Given the description of an element on the screen output the (x, y) to click on. 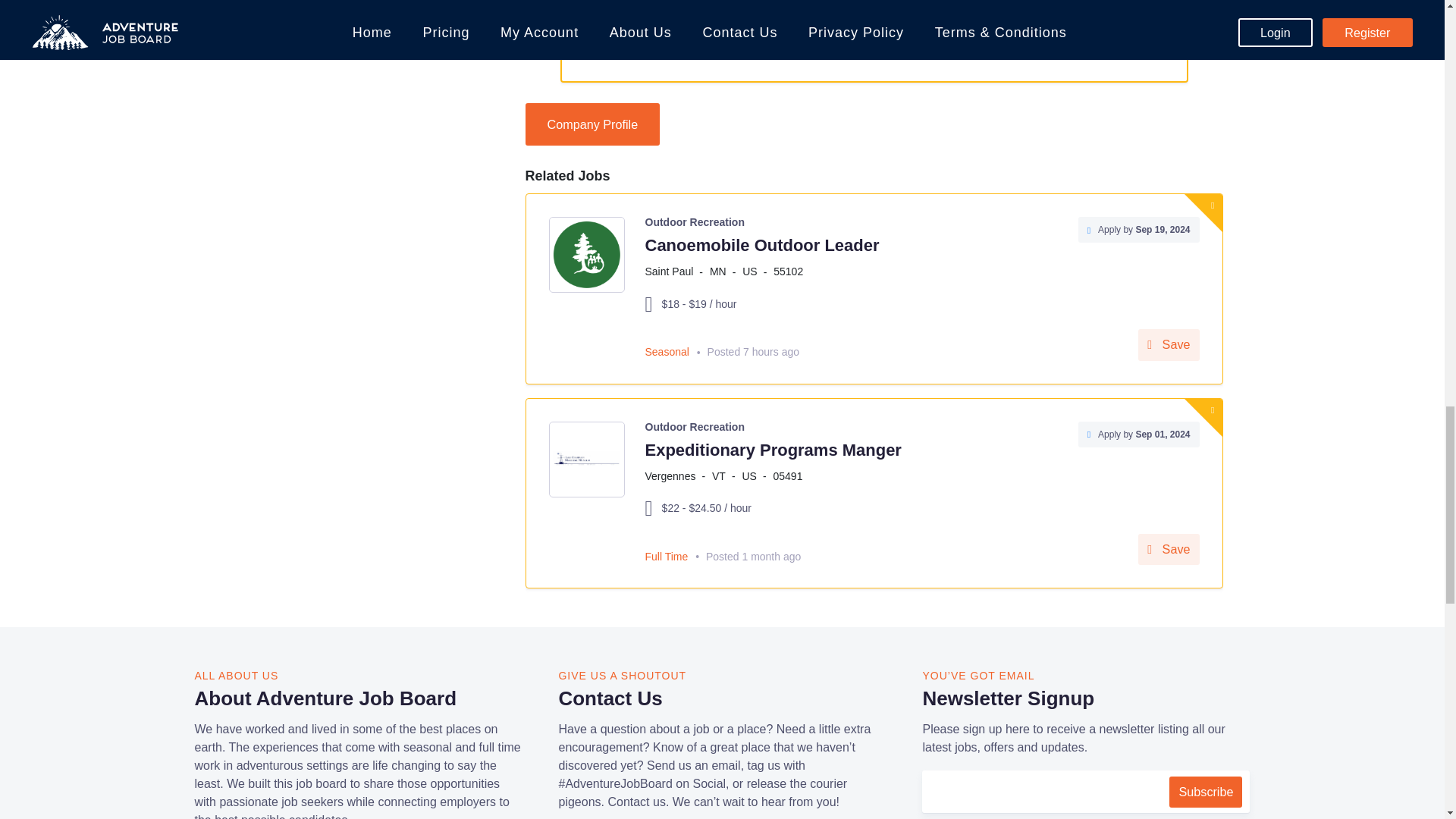
Seasonal (666, 351)
Full Time (666, 556)
Outdoor Recreation (694, 222)
Outdoor Recreation (694, 426)
Save (1168, 345)
Company Profile (591, 124)
Expeditionary Programs Manger (773, 449)
Canoemobile Outdoor Leader (762, 244)
Subscribe (1205, 791)
Expeditionary Programs Manger (773, 449)
Canoemobile Outdoor Leader (762, 244)
